Given the description of an element on the screen output the (x, y) to click on. 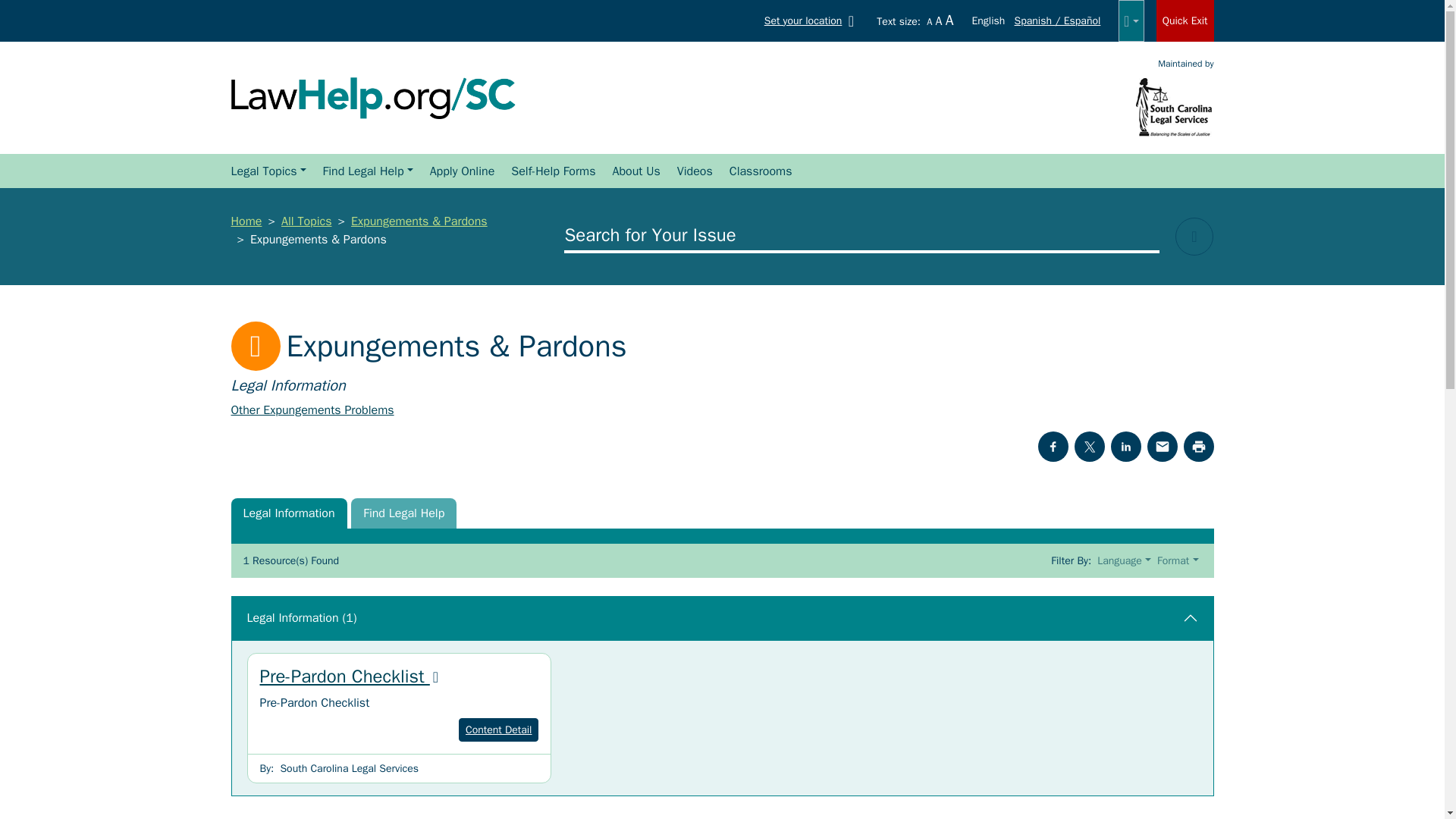
Set your location (812, 20)
Quick Exit (1184, 20)
Legal Topics (267, 171)
South Carolina Legal Services (1174, 106)
Legal Information (288, 512)
Set your location (812, 20)
Find Legal Help (403, 512)
